Given the description of an element on the screen output the (x, y) to click on. 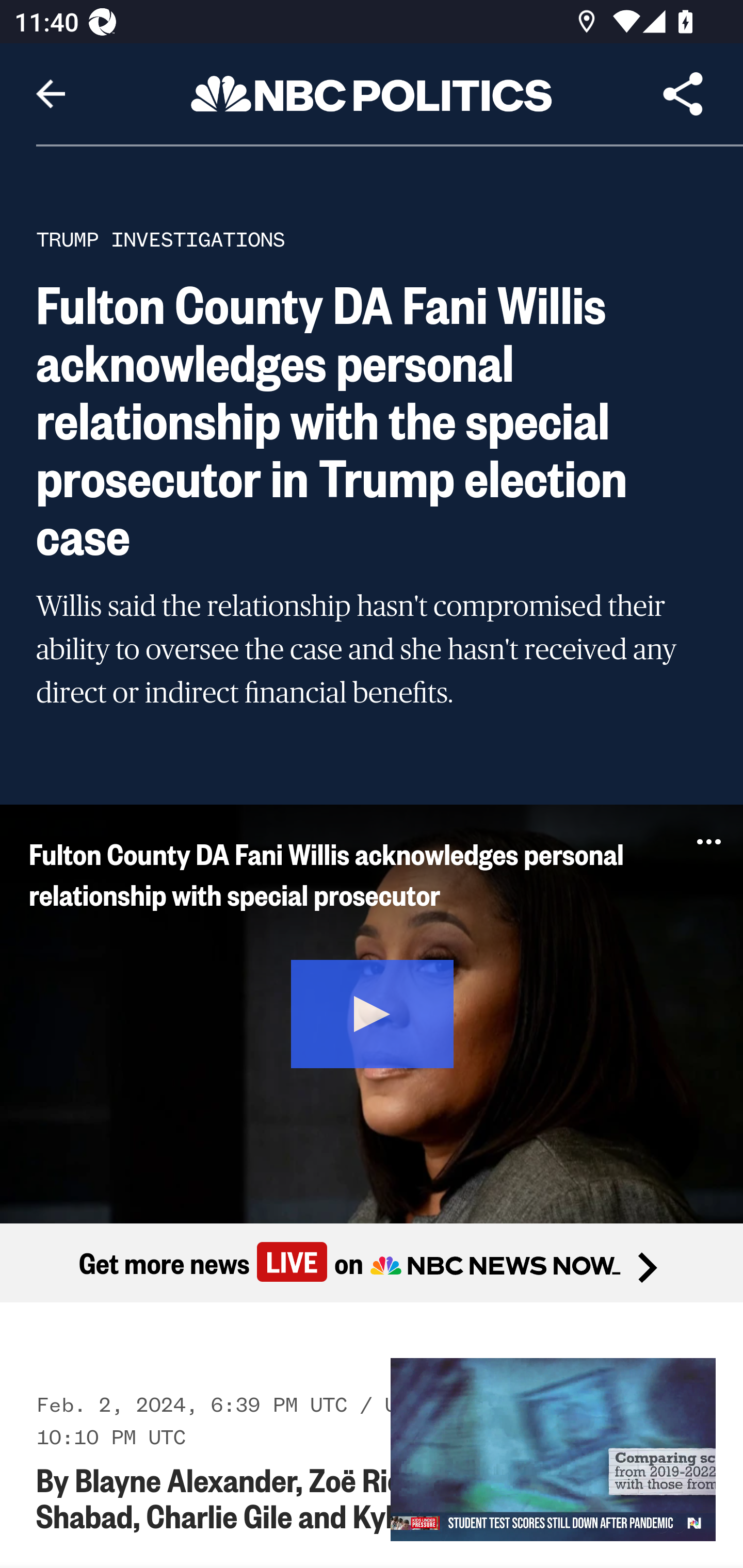
Navigate up (50, 93)
Share Article, button (683, 94)
Header, NBC Politics (371, 93)
TRUMP INVESTIGATIONS (160, 239)
Get more news Live on Get more news Live on (371, 1262)
